Given the description of an element on the screen output the (x, y) to click on. 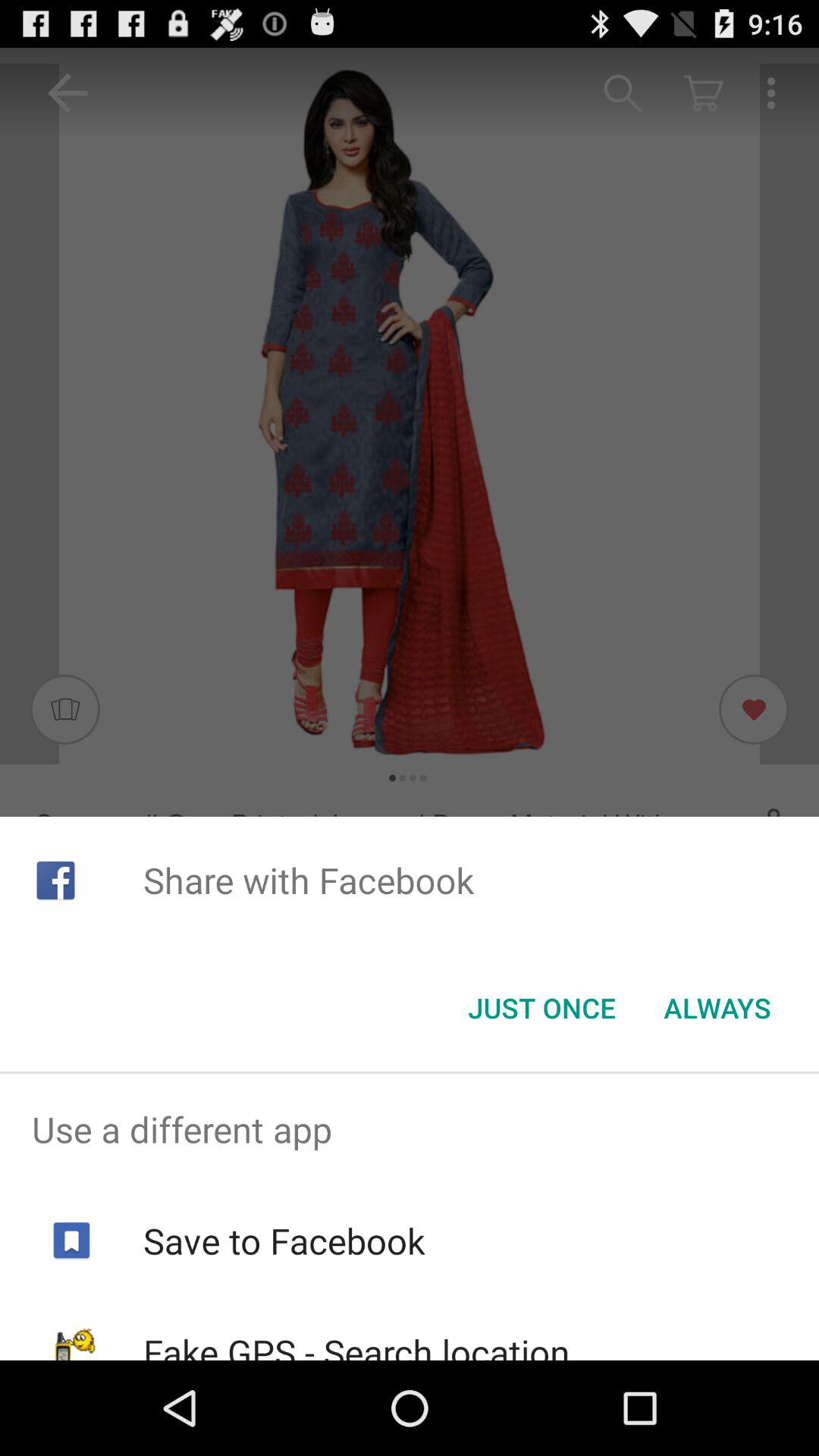
scroll until use a different item (409, 1129)
